Given the description of an element on the screen output the (x, y) to click on. 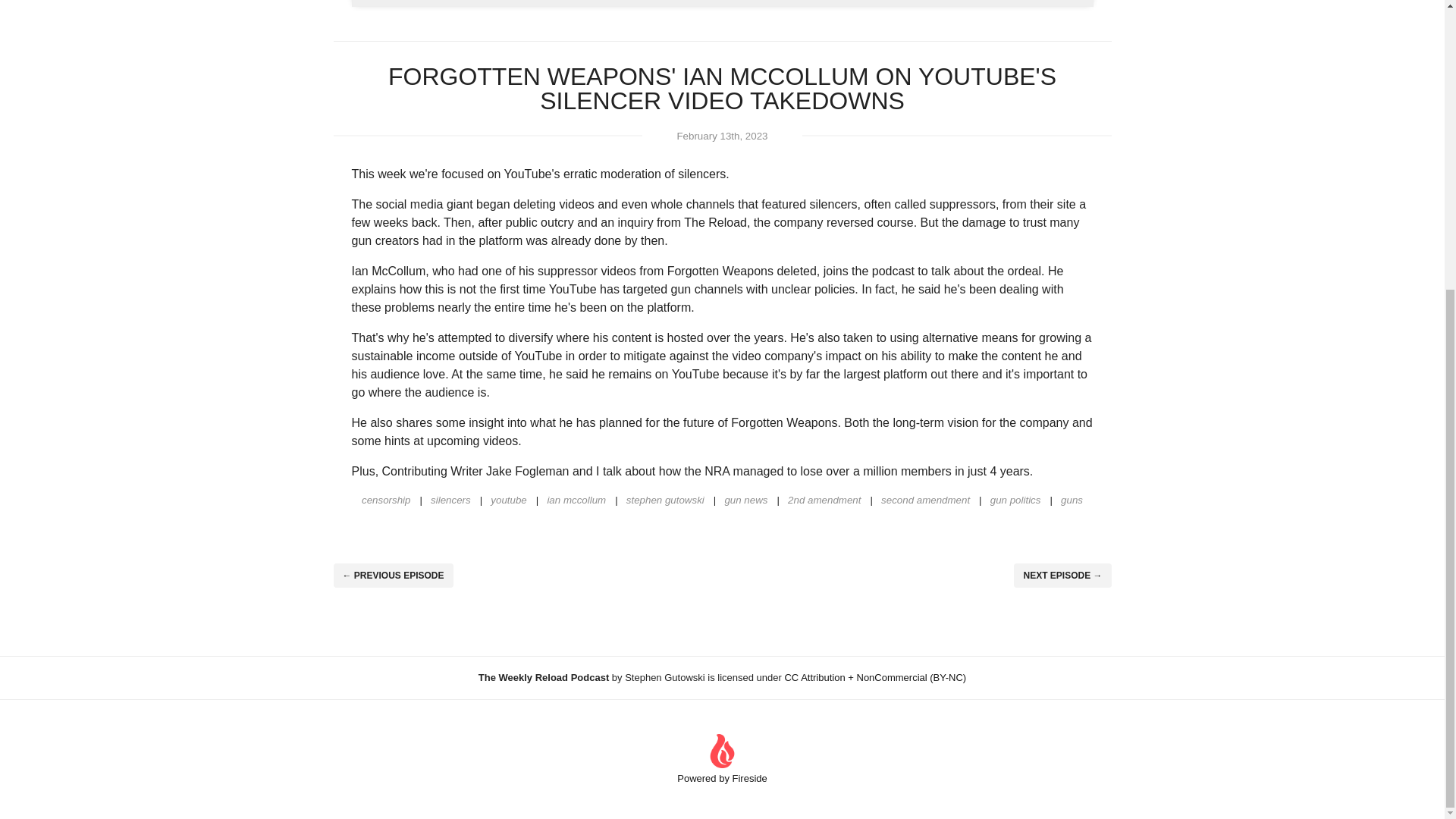
silencers (444, 499)
Powered by Fireside (722, 758)
censorship (385, 499)
2nd amendment (818, 499)
second amendment (919, 499)
youtube (503, 499)
stephen gutowski (659, 499)
ian mccollum (570, 499)
gun news (740, 499)
